Given the description of an element on the screen output the (x, y) to click on. 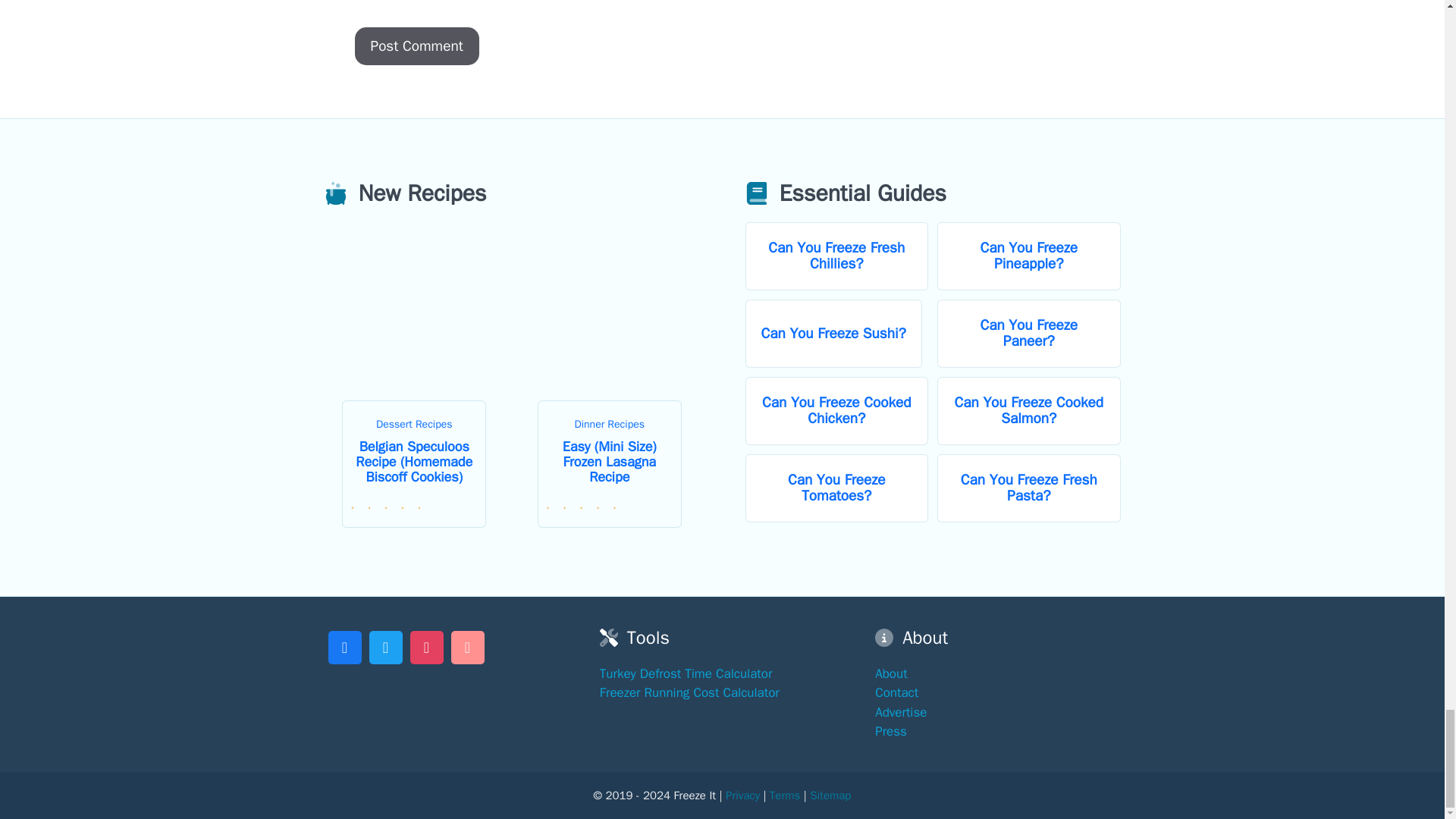
Post Comment (417, 46)
Youtube (466, 645)
Facebook (344, 645)
Twitter (385, 645)
Instagram (426, 645)
